Given the description of an element on the screen output the (x, y) to click on. 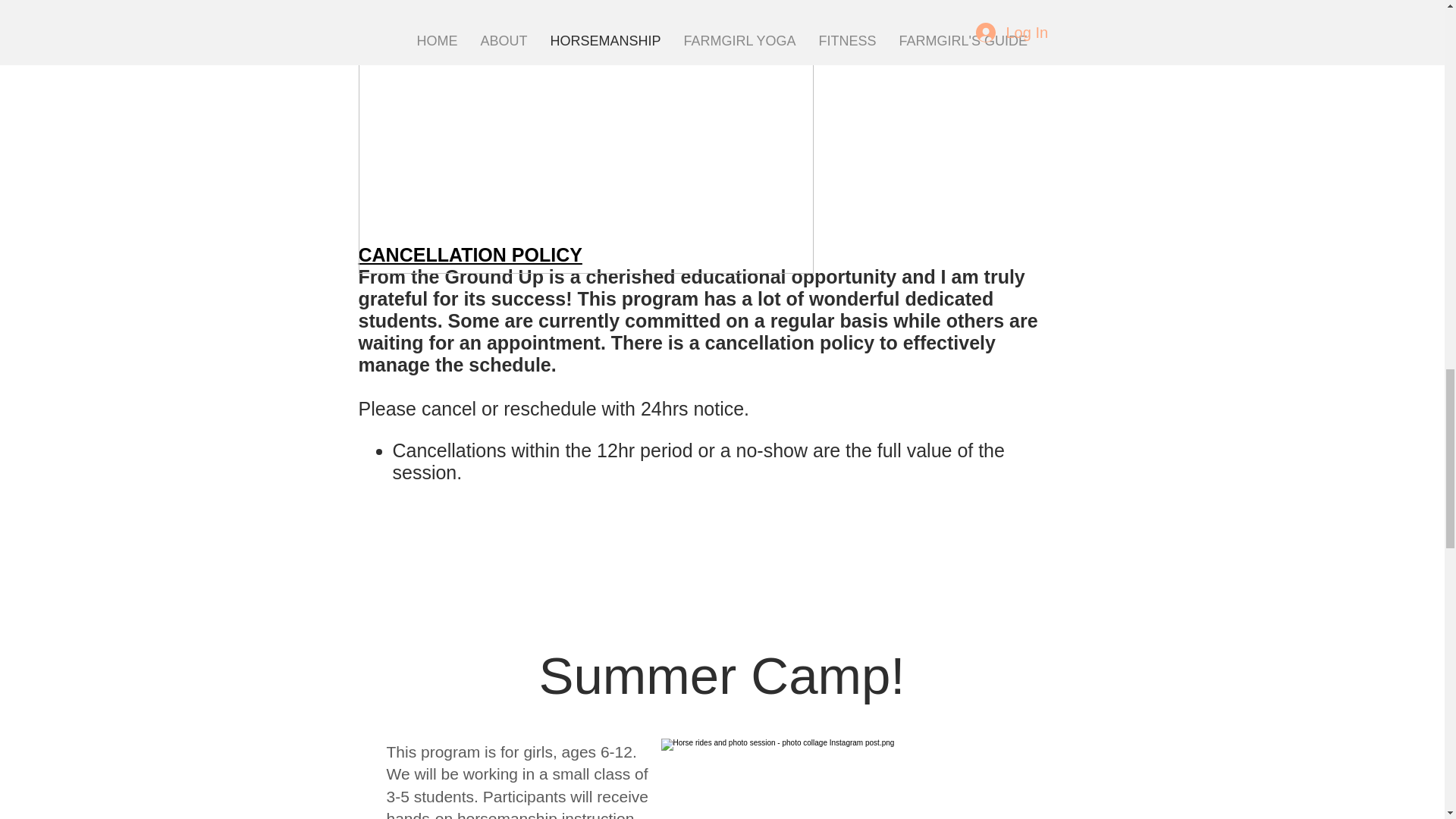
Gift Cert.png (585, 136)
B21680DB-13C0-4D3C-9763-3AB8CACACDB1.PNG (872, 778)
